Given the description of an element on the screen output the (x, y) to click on. 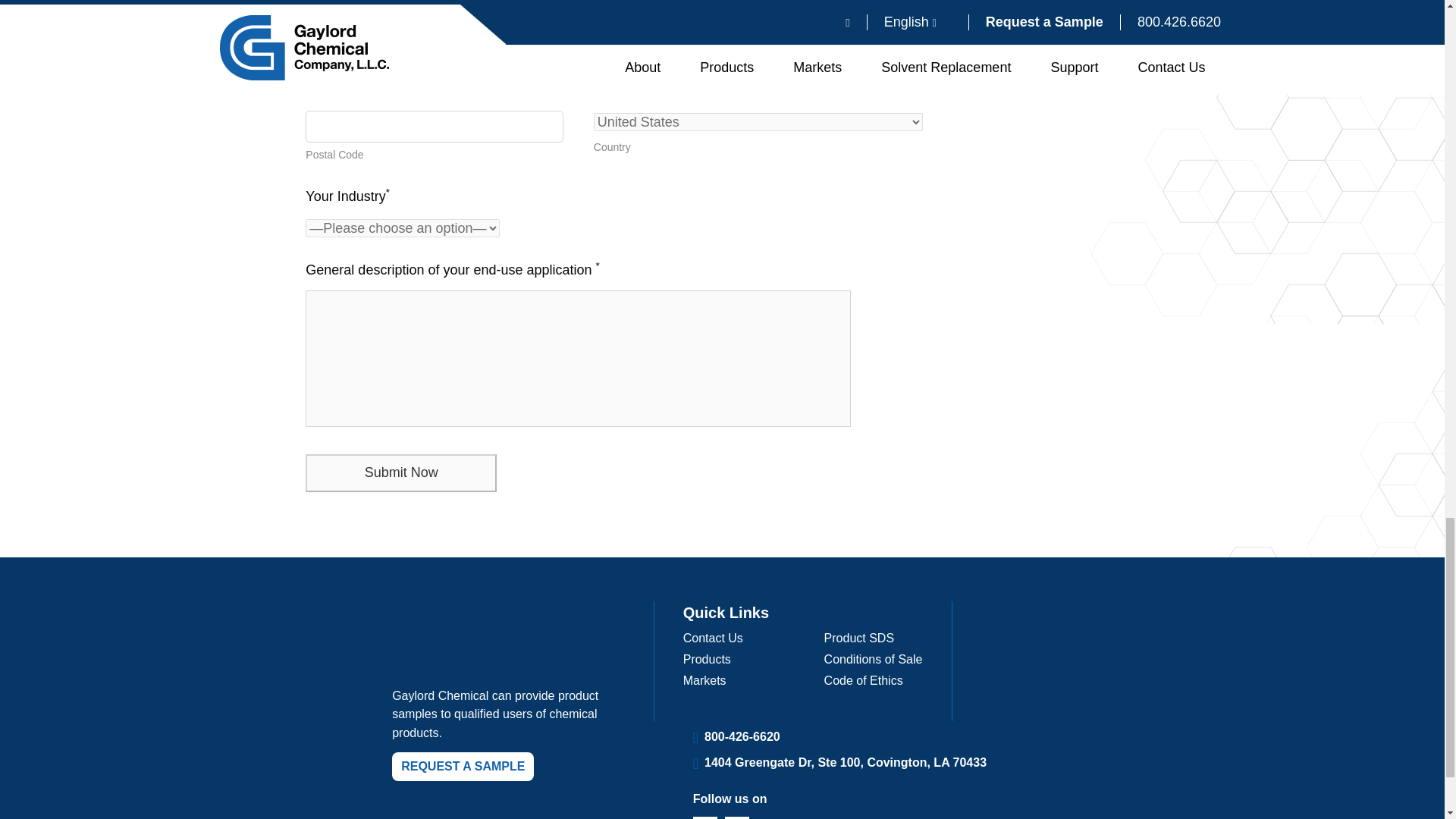
Submit Now (400, 473)
